Given the description of an element on the screen output the (x, y) to click on. 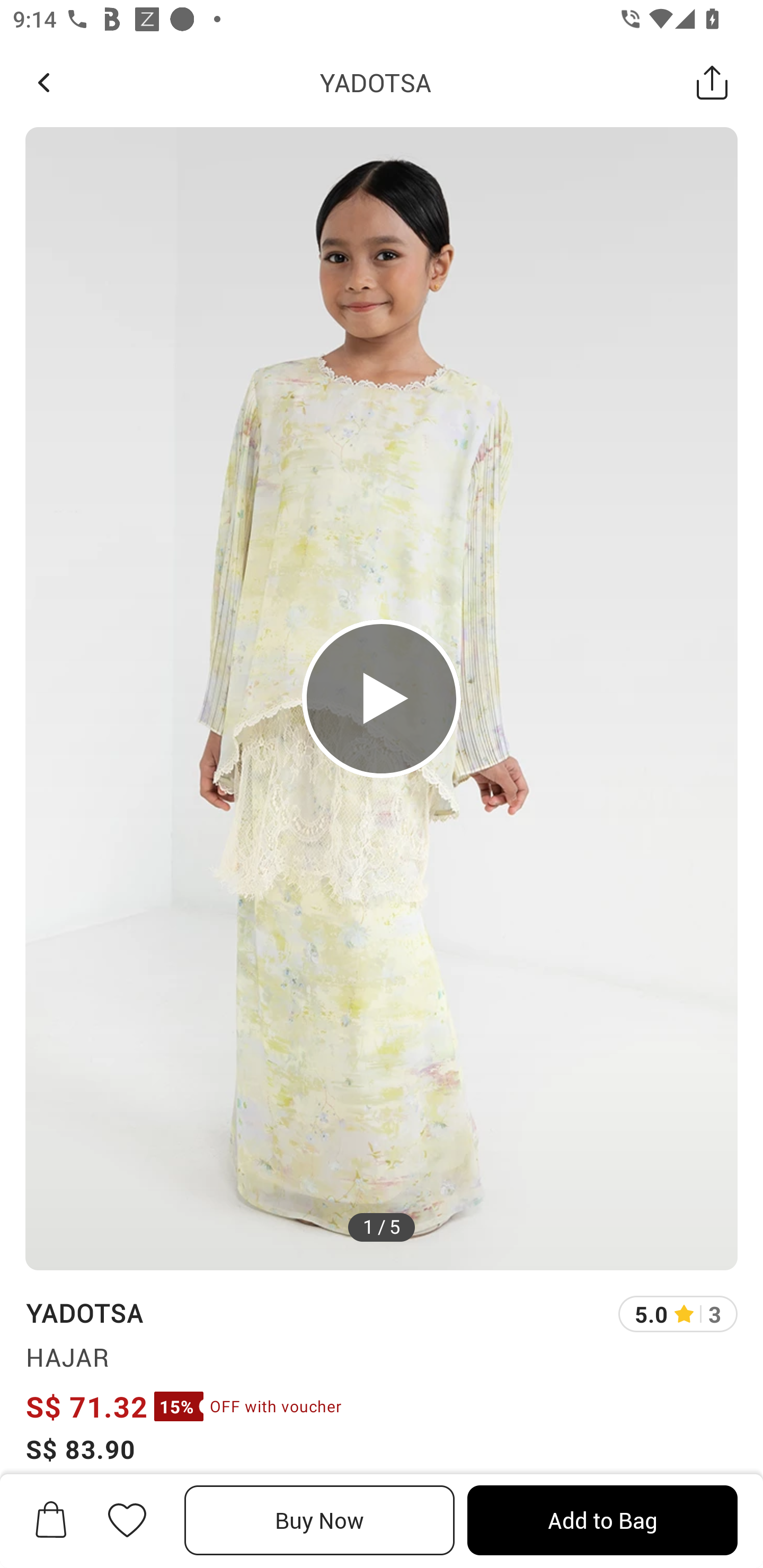
YADOTSA (375, 82)
Share this Product (711, 82)
YADOTSA (84, 1312)
5.0 3 (677, 1313)
Buy Now (319, 1519)
Add to Bag (601, 1519)
